Given the description of an element on the screen output the (x, y) to click on. 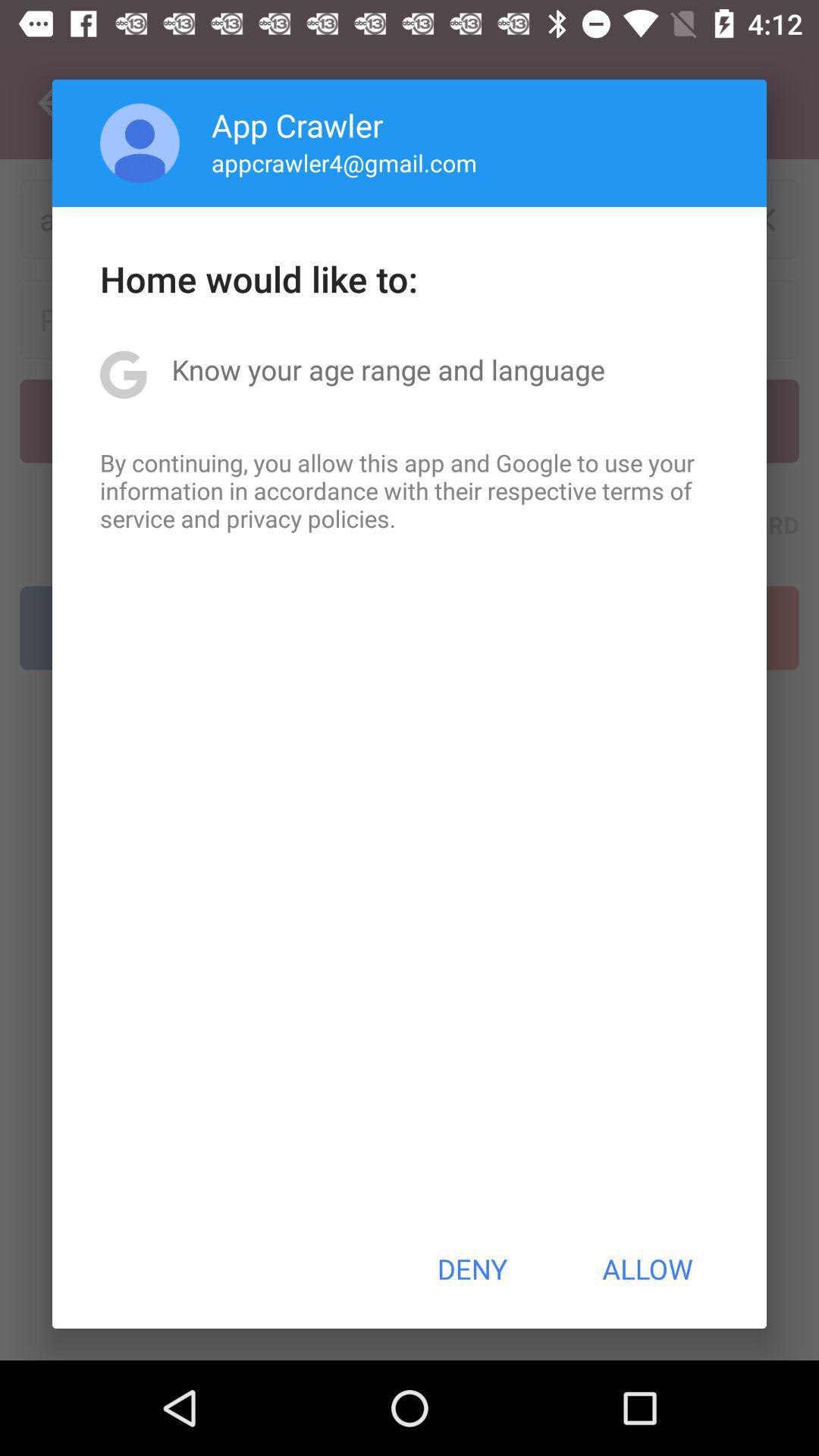
turn on item at the bottom (471, 1268)
